Given the description of an element on the screen output the (x, y) to click on. 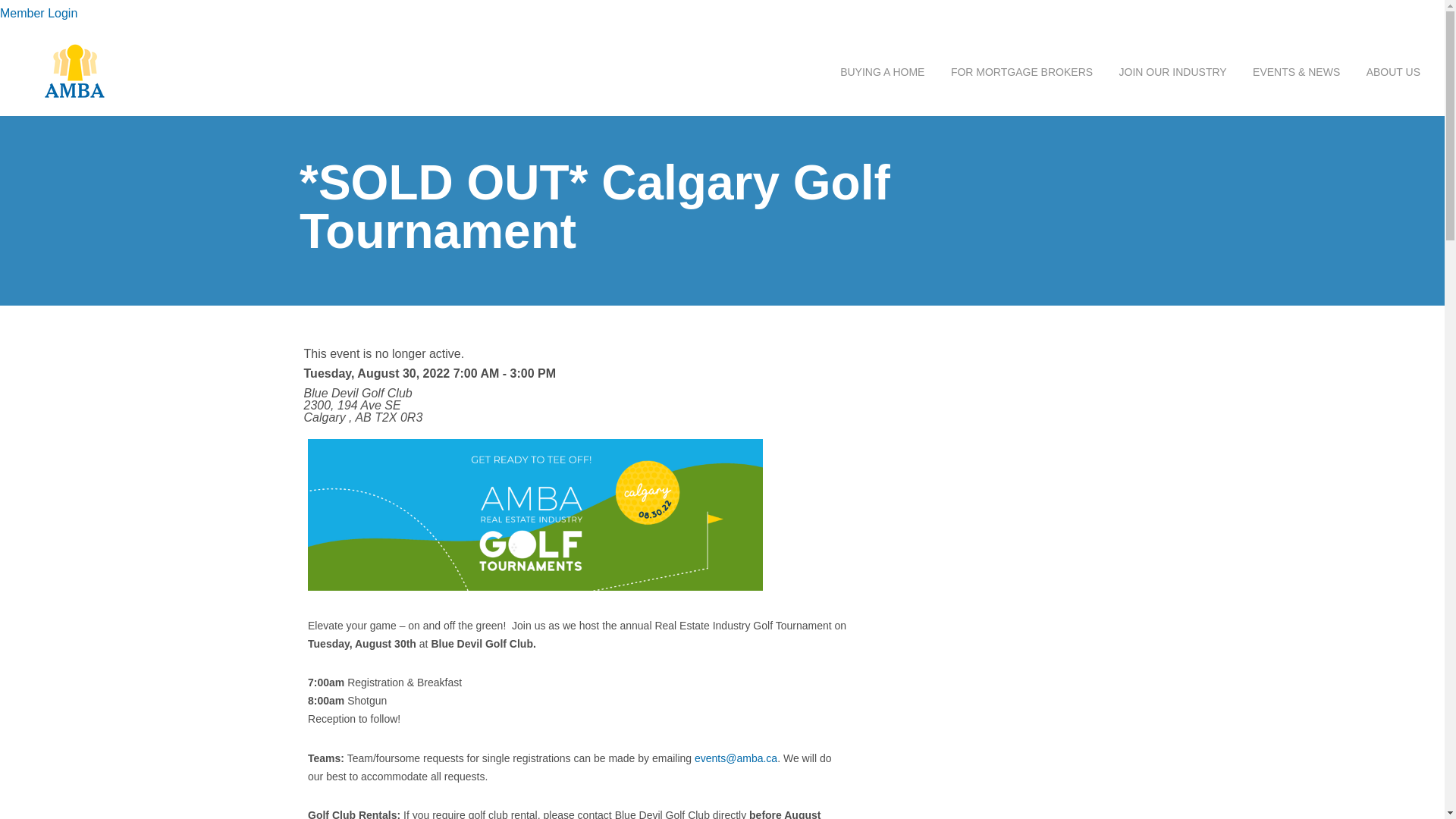
ABOUT US Element type: text (1387, 71)
EVENTS & NEWS Element type: text (1296, 71)
FOR MORTGAGE BROKERS Element type: text (1021, 71)
Member Login  Element type: text (40, 12)
events@amba.ca Element type: text (735, 758)
BUYING A HOME Element type: text (876, 71)
JOIN OUR INDUSTRY Element type: text (1172, 71)
